Given the description of an element on the screen output the (x, y) to click on. 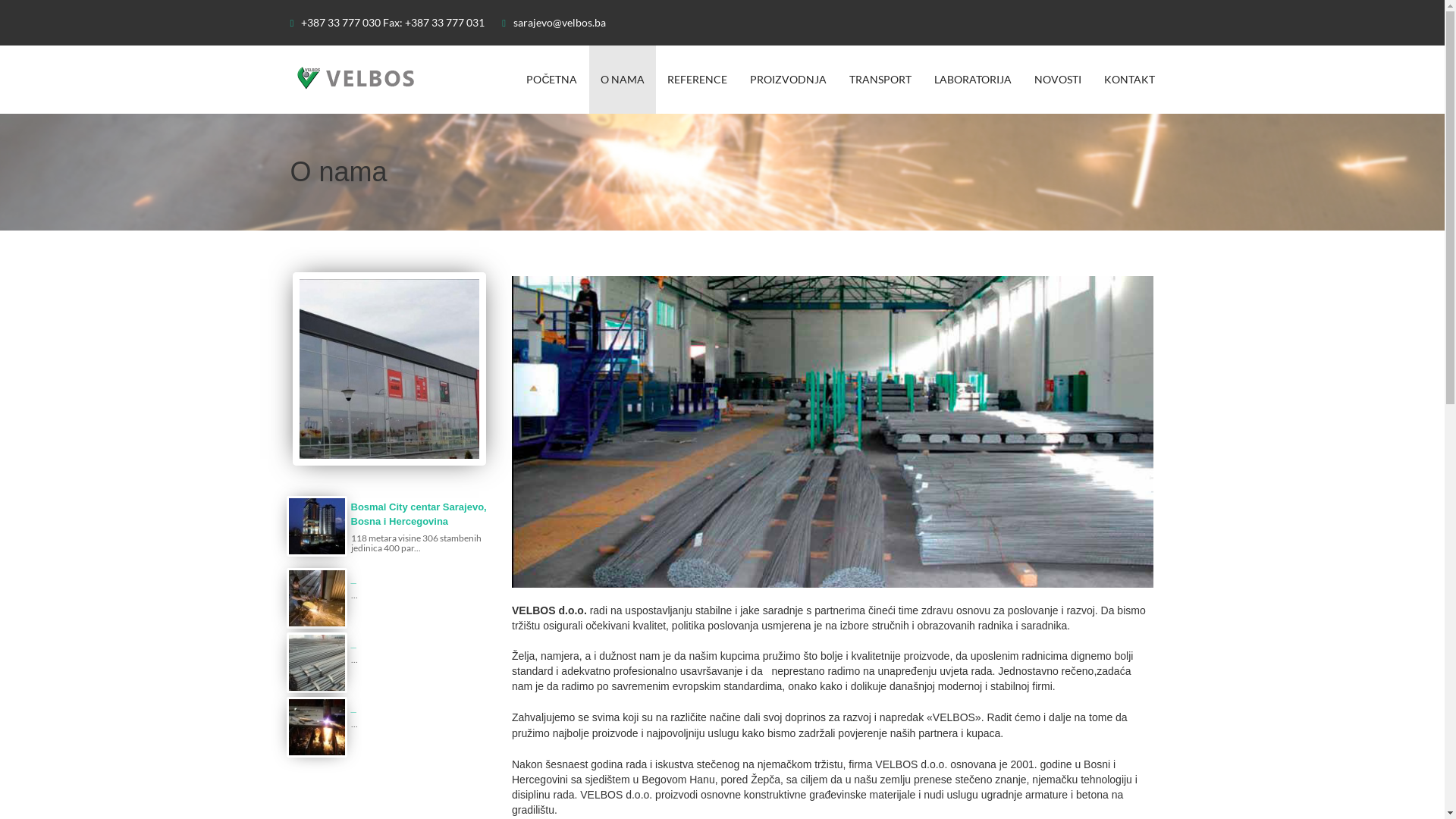
REFERENCE Element type: text (696, 79)
_ Element type: text (352, 578)
_ Element type: text (352, 707)
_ Element type: text (352, 643)
O NAMA Element type: text (621, 79)
Bosmal City centar Sarajevo, Bosna i Hercegovina Element type: text (418, 514)
LABORATORIJA Element type: text (972, 79)
NOVOSTI Element type: text (1057, 79)
TRANSPORT Element type: text (879, 79)
PROIZVODNJA Element type: text (787, 79)
KONTAKT Element type: text (1128, 79)
